Given the description of an element on the screen output the (x, y) to click on. 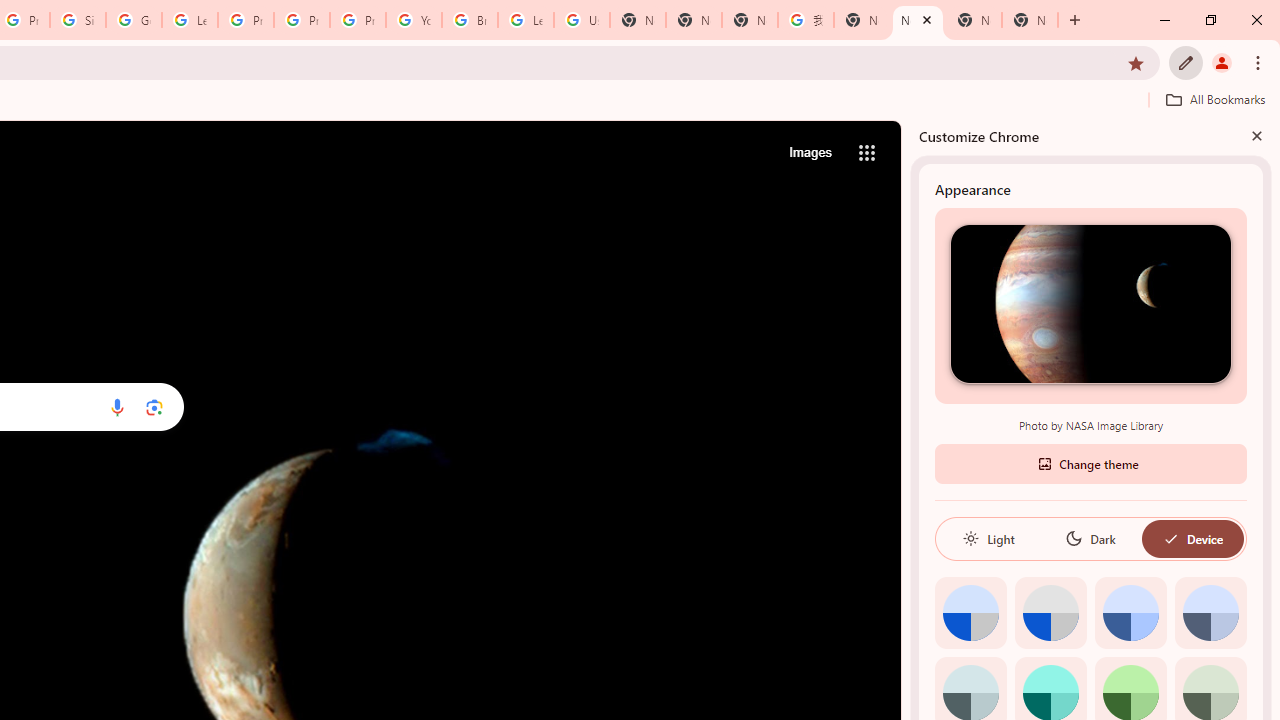
Device (1192, 538)
Privacy Help Center - Policies Help (301, 20)
New Tab (1030, 20)
Default color (970, 612)
Change theme (1090, 462)
